Given the description of an element on the screen output the (x, y) to click on. 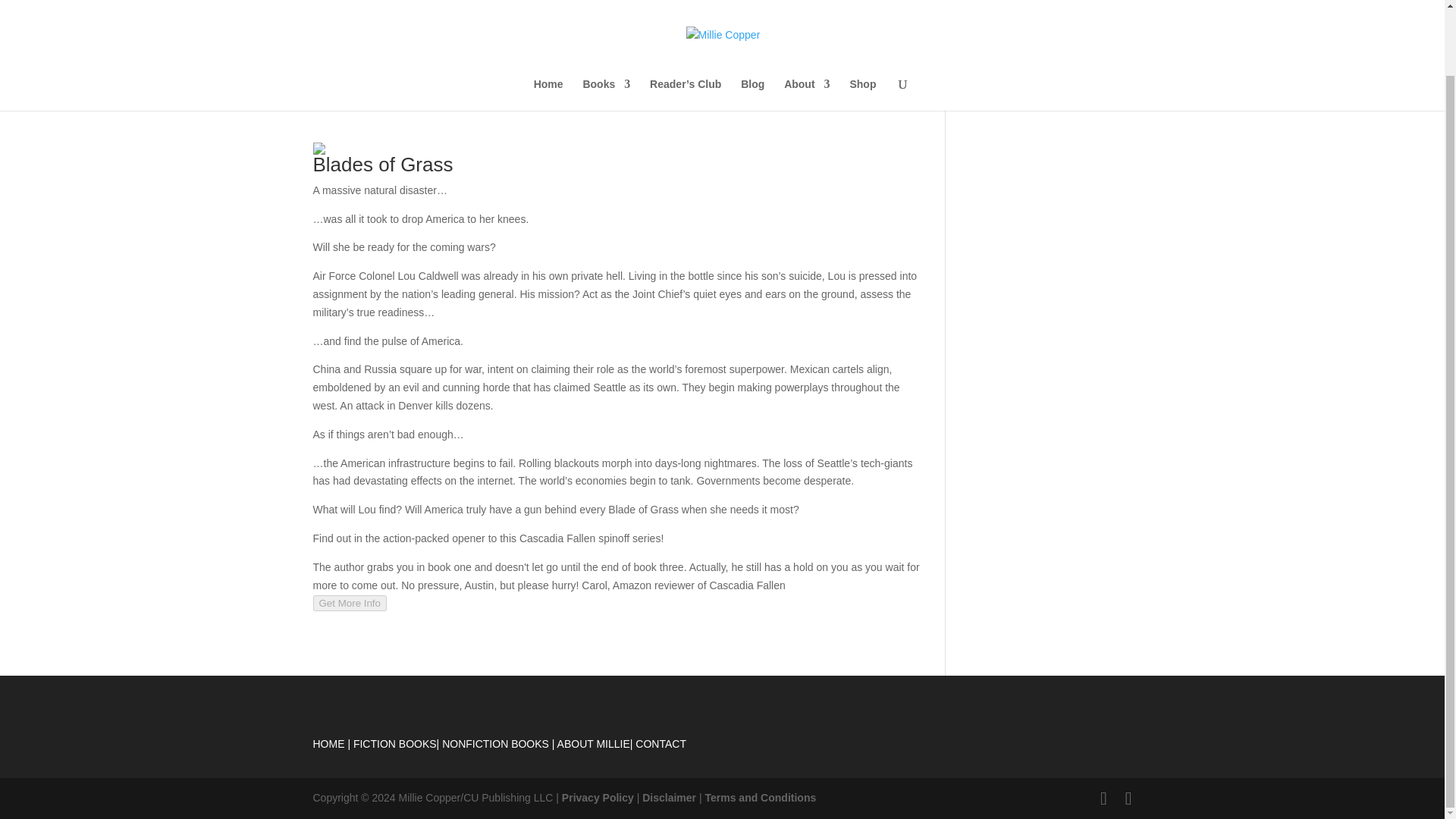
FICTION BOOKS (394, 743)
Get More Info (350, 603)
Disclaimer (668, 797)
Home (548, 22)
Get More Info (350, 602)
Privacy Policy (597, 797)
CONTACT (659, 743)
About (806, 22)
NONFICTION BOOKS (495, 743)
HOME (328, 743)
